Given the description of an element on the screen output the (x, y) to click on. 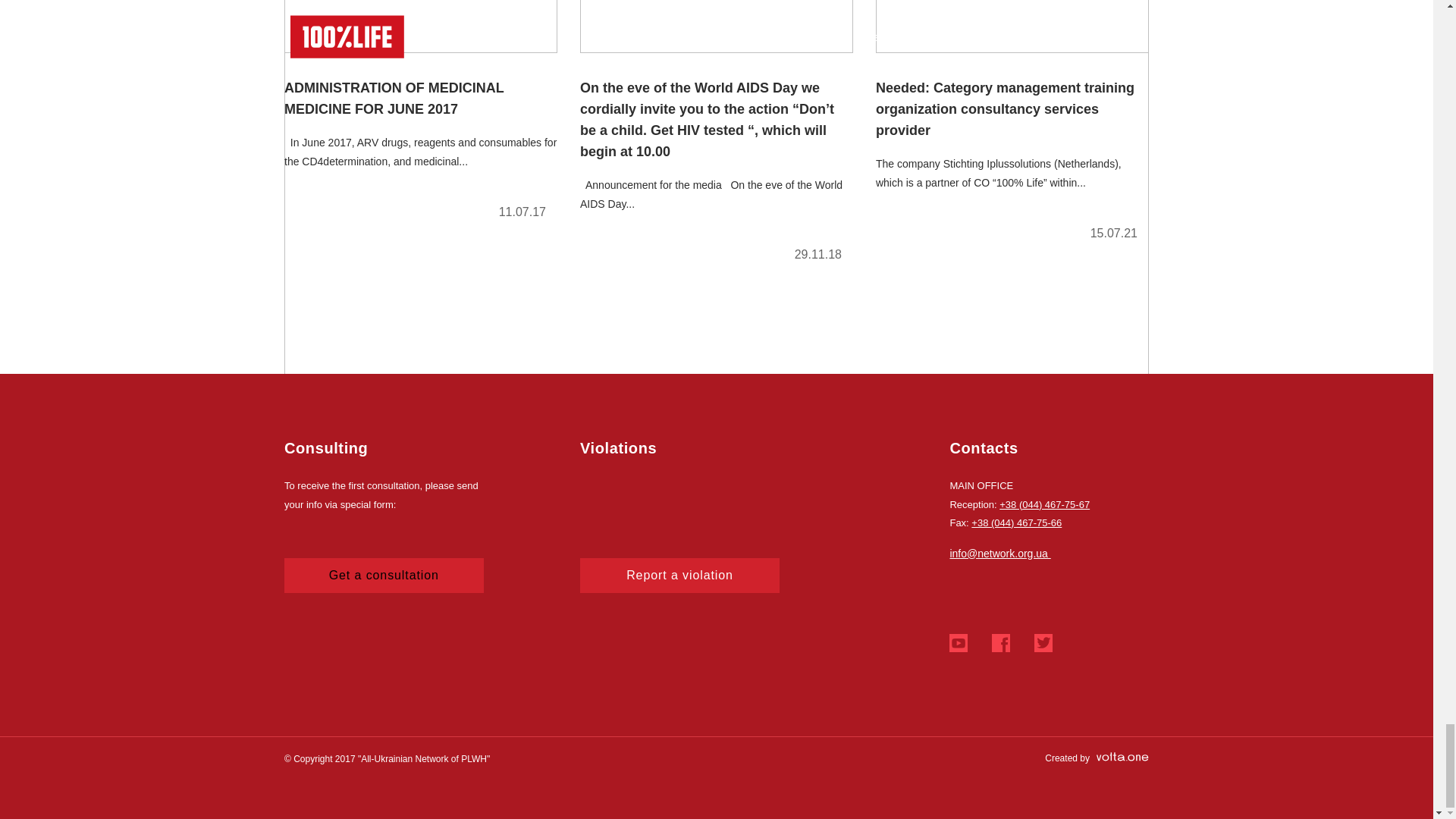
ADMINISTRATION OF MEDICINAL MEDICINE FOR JUNE 2017 (420, 116)
Created by (1096, 757)
Get a consultation (383, 574)
Get a consultation (383, 574)
Report a violation (678, 574)
Report a violation (678, 574)
